Given the description of an element on the screen output the (x, y) to click on. 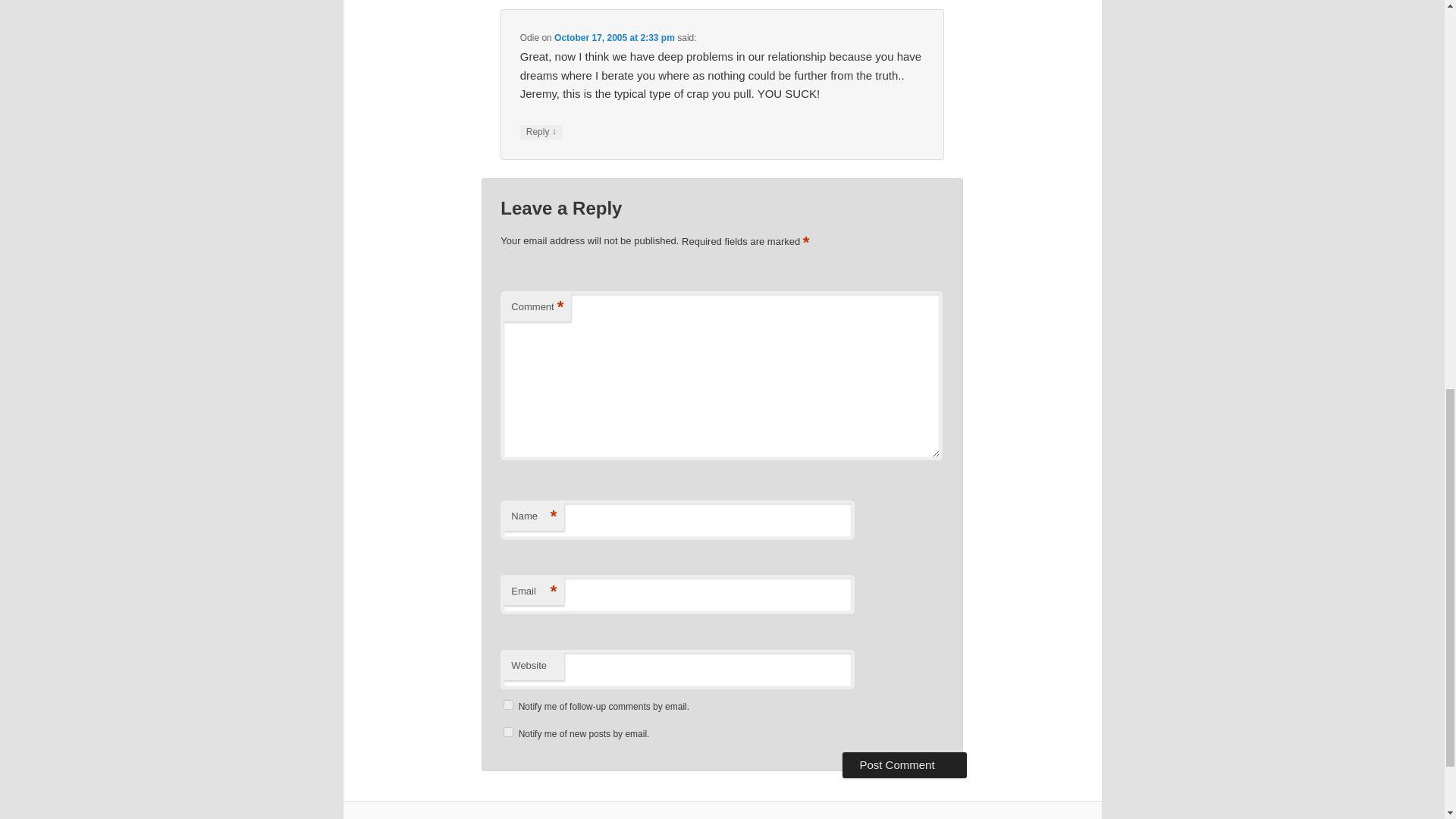
October 17, 2005 at 2:33 pm (614, 37)
Post Comment (904, 765)
subscribe (508, 732)
Post Comment (904, 765)
subscribe (508, 705)
